Given the description of an element on the screen output the (x, y) to click on. 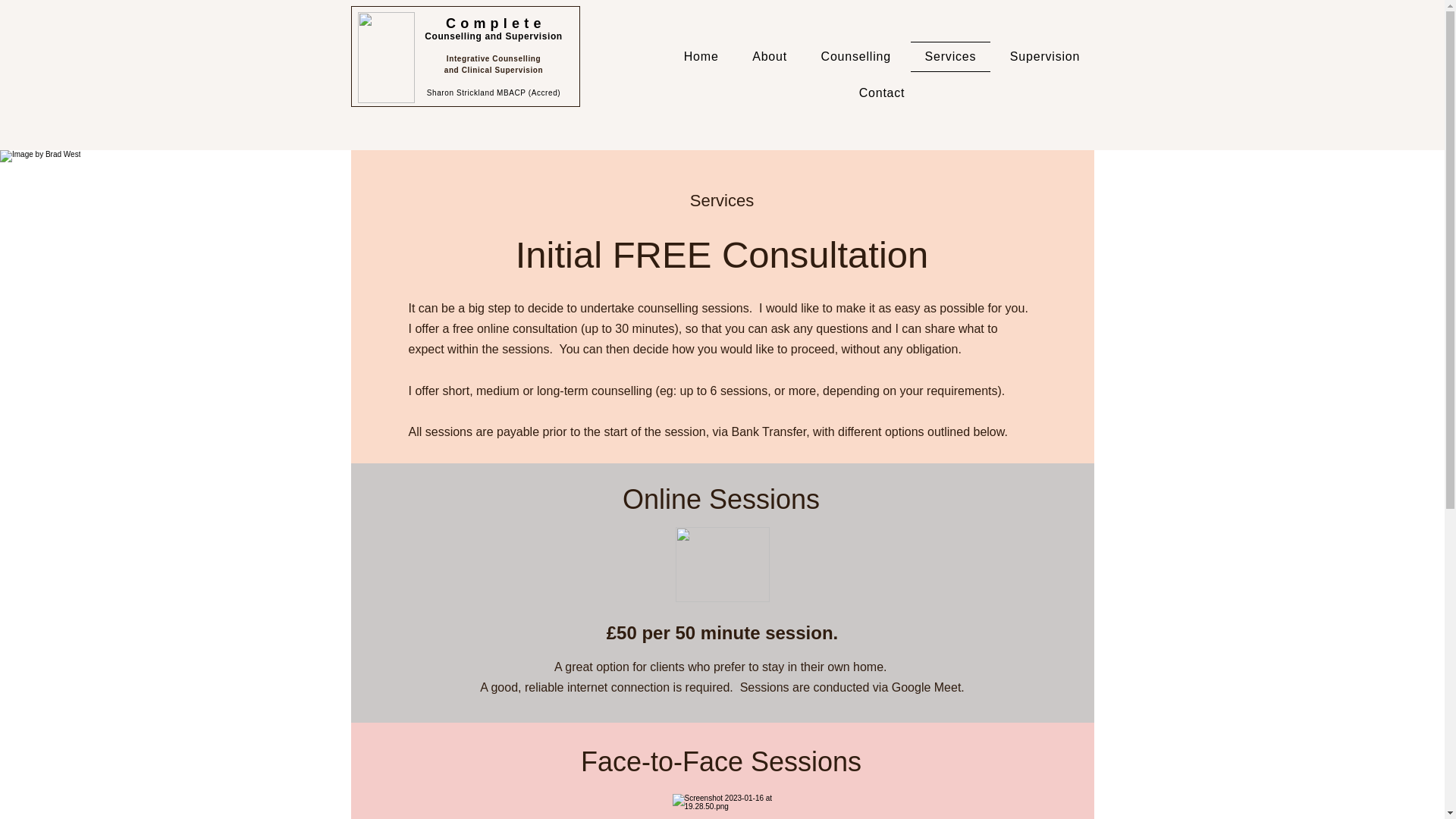
Counselling (855, 56)
Online Sessions (721, 499)
Contact (881, 92)
Picture 2.png (386, 57)
About (769, 56)
Home (700, 56)
Screenshot 2023-11-20 at 11.17.19.png (721, 564)
Initial FREE Consultation (721, 254)
Face-to-Face Sessions (720, 761)
Supervision (1044, 56)
Services (950, 56)
